Given the description of an element on the screen output the (x, y) to click on. 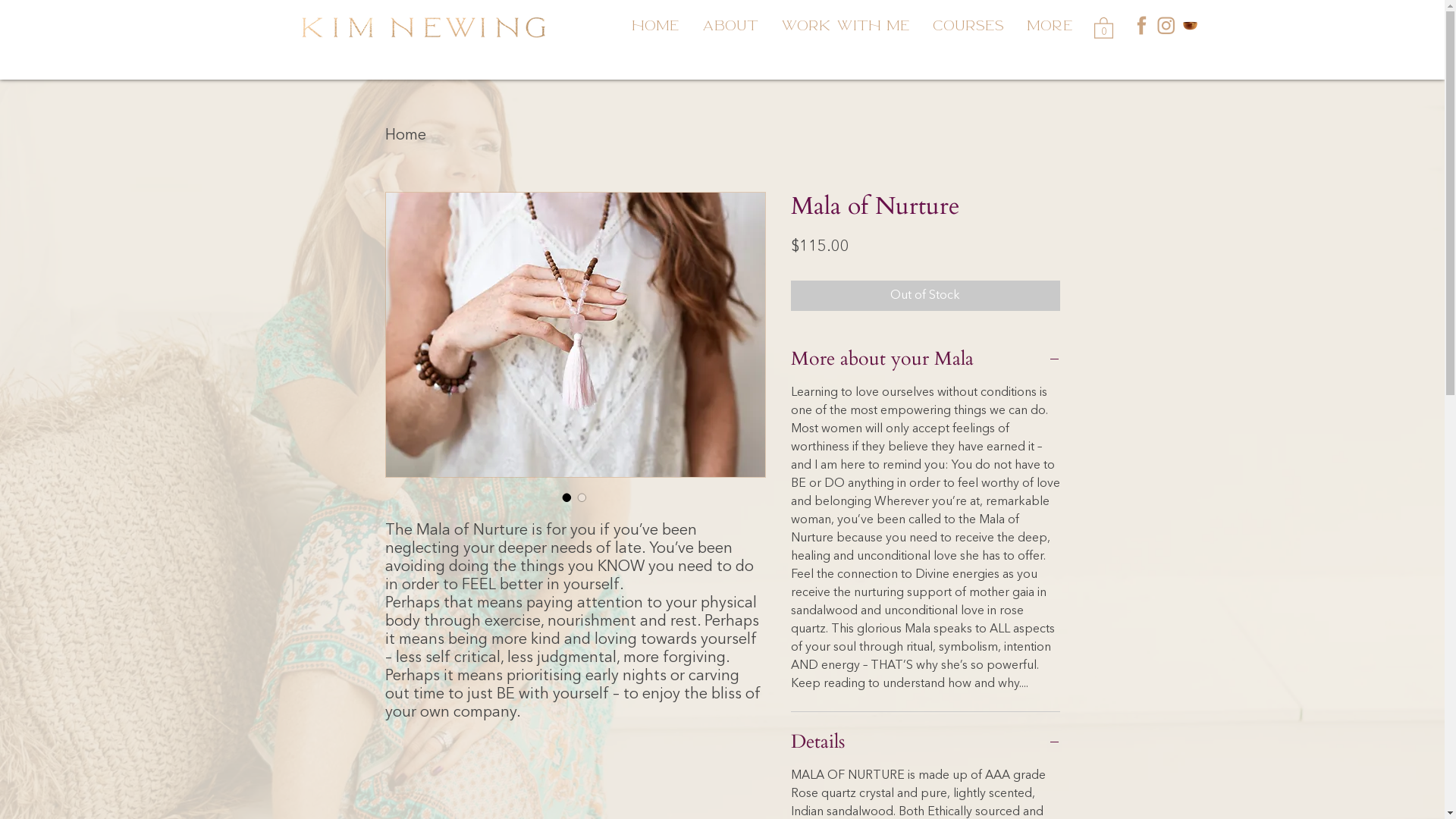
More about your Mala Element type: text (924, 358)
Home Element type: text (405, 135)
ABOUT Element type: text (729, 20)
Details Element type: text (924, 741)
Out of Stock Element type: text (924, 295)
0 Element type: text (1102, 26)
HOME Element type: text (655, 20)
